Given the description of an element on the screen output the (x, y) to click on. 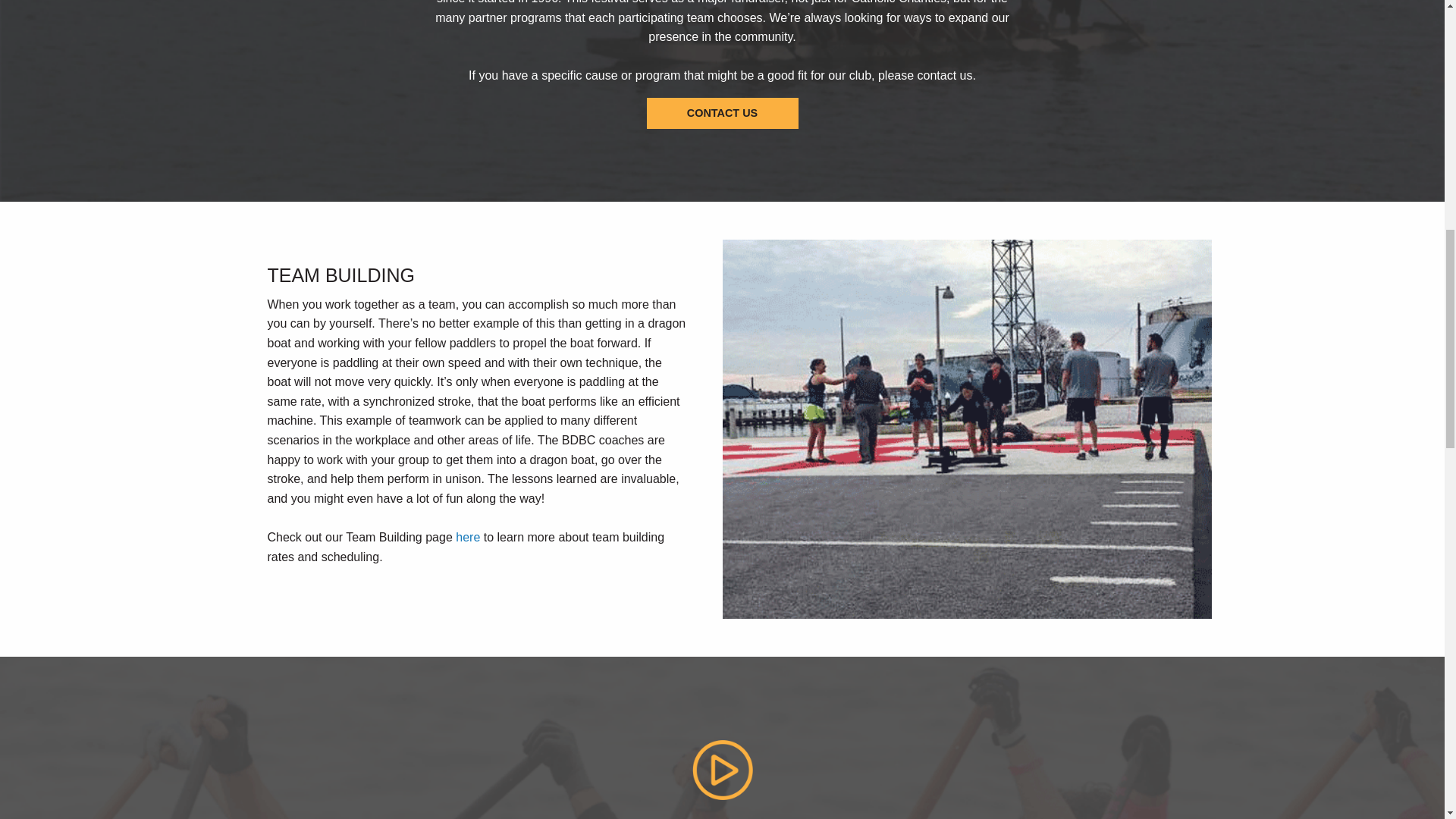
here (467, 536)
CONTACT US (721, 112)
